Given the description of an element on the screen output the (x, y) to click on. 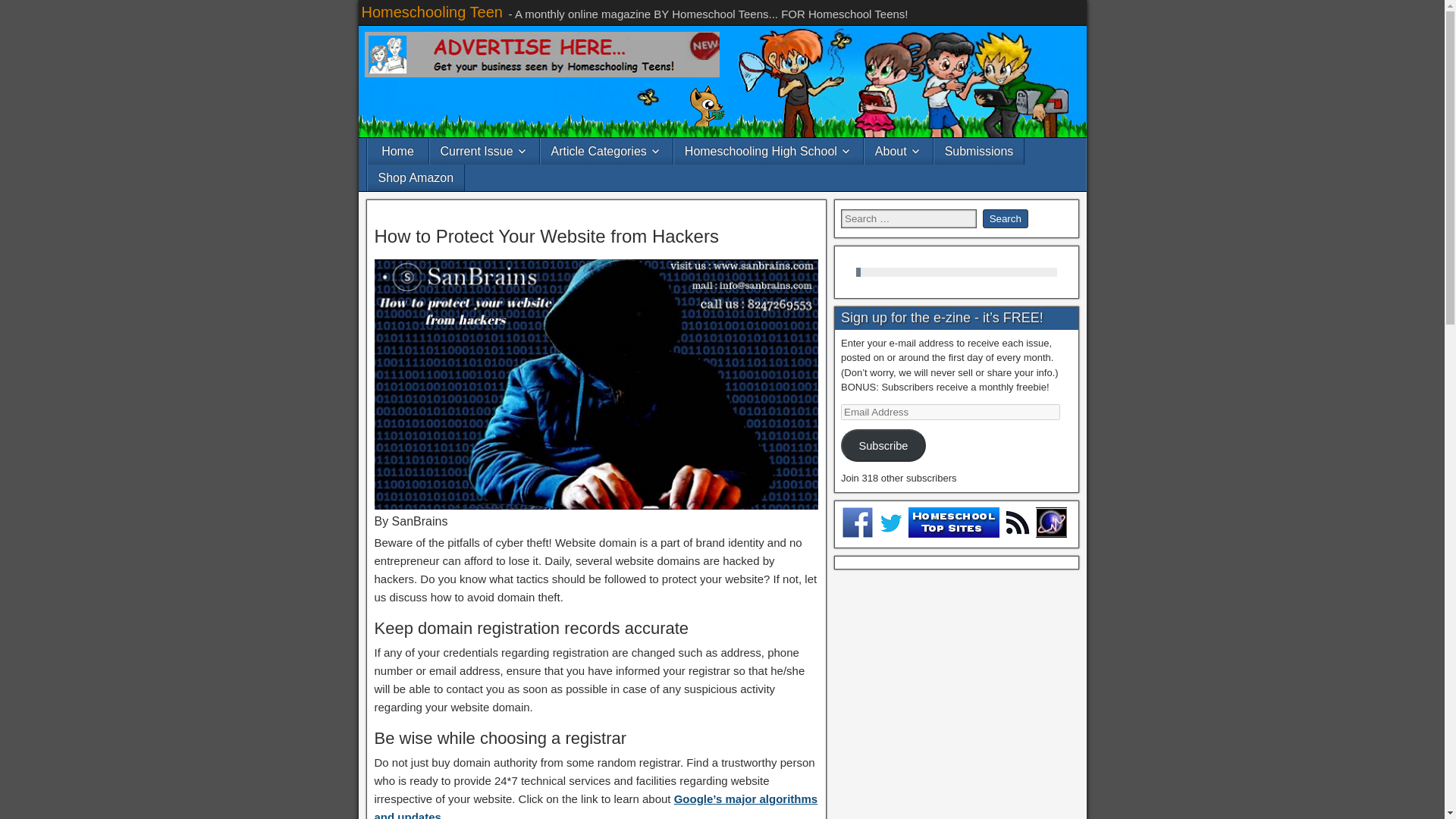
Home (397, 151)
Search (1004, 218)
Search (1004, 218)
How to Protect Your Website from Hackers (546, 236)
Search (1004, 218)
Shop Amazon (415, 177)
Current Issue (483, 151)
Submissions (979, 151)
About (898, 151)
Advertise Here (541, 53)
